Given the description of an element on the screen output the (x, y) to click on. 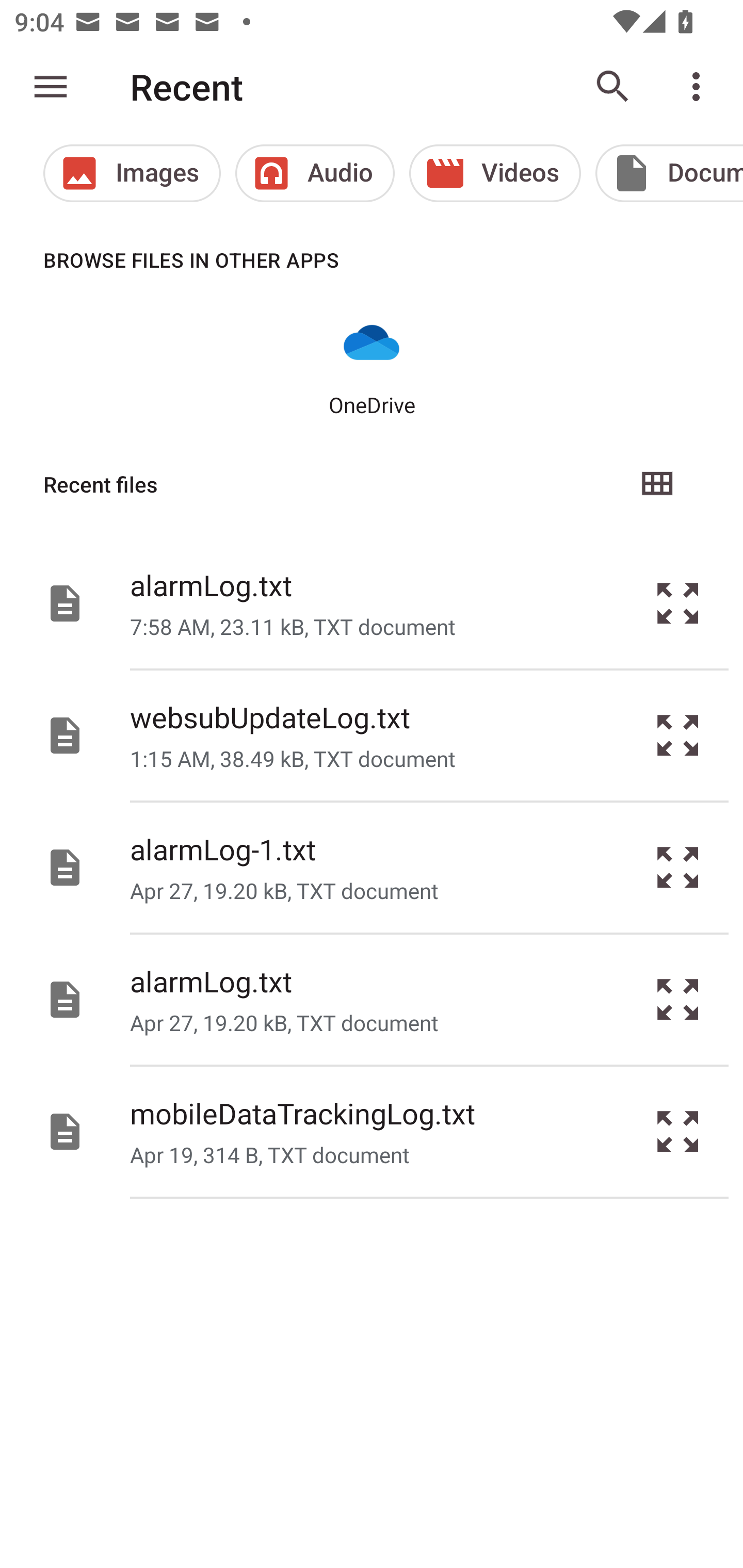
Show roots (50, 86)
Search (612, 86)
More options (699, 86)
Images (131, 173)
Audio (314, 173)
Videos (495, 173)
Documents (669, 173)
OneDrive (371, 365)
Grid view (655, 484)
Preview the file alarmLog.txt (677, 602)
Preview the file websubUpdateLog.txt (677, 736)
Preview the file alarmLog-1.txt (677, 867)
Preview the file alarmLog.txt (677, 999)
Preview the file mobileDataTrackingLog.txt (677, 1131)
